Given the description of an element on the screen output the (x, y) to click on. 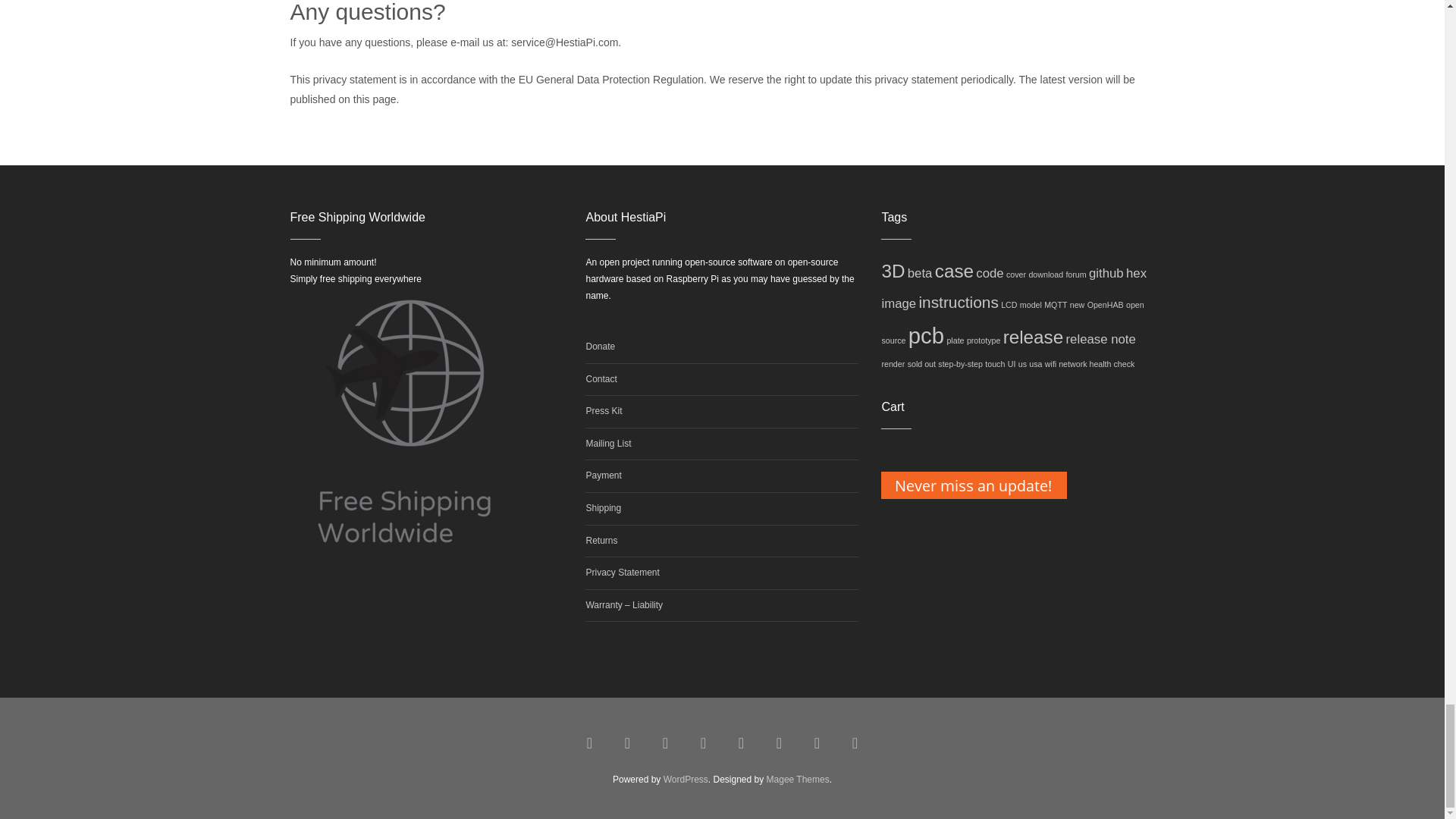
Shipping (603, 507)
Mailing List (607, 443)
code (989, 273)
Twitter (627, 743)
beta (920, 273)
Vimeo (703, 743)
YouTube (665, 743)
Email (779, 743)
case (954, 271)
download (1044, 274)
github (1106, 273)
forum (1075, 274)
Contact (600, 378)
Creative Commons - CC BY-SA (817, 743)
GitHub (741, 743)
